Given the description of an element on the screen output the (x, y) to click on. 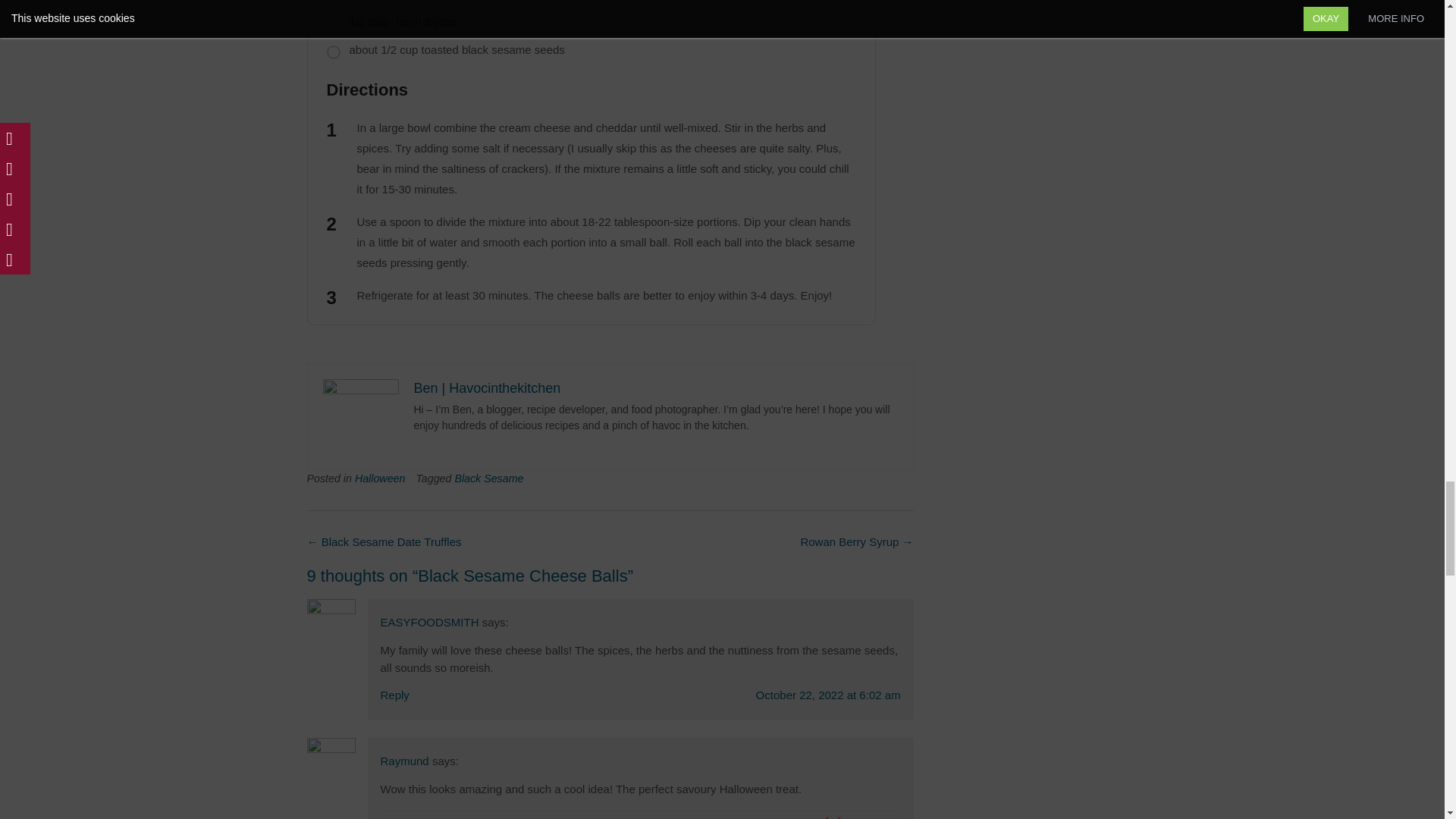
Reply (394, 694)
Black Sesame (488, 478)
Raymund (404, 760)
EASYFOODSMITH (429, 621)
Halloween (380, 478)
October 22, 2022 at 6:02 am (828, 694)
